Given the description of an element on the screen output the (x, y) to click on. 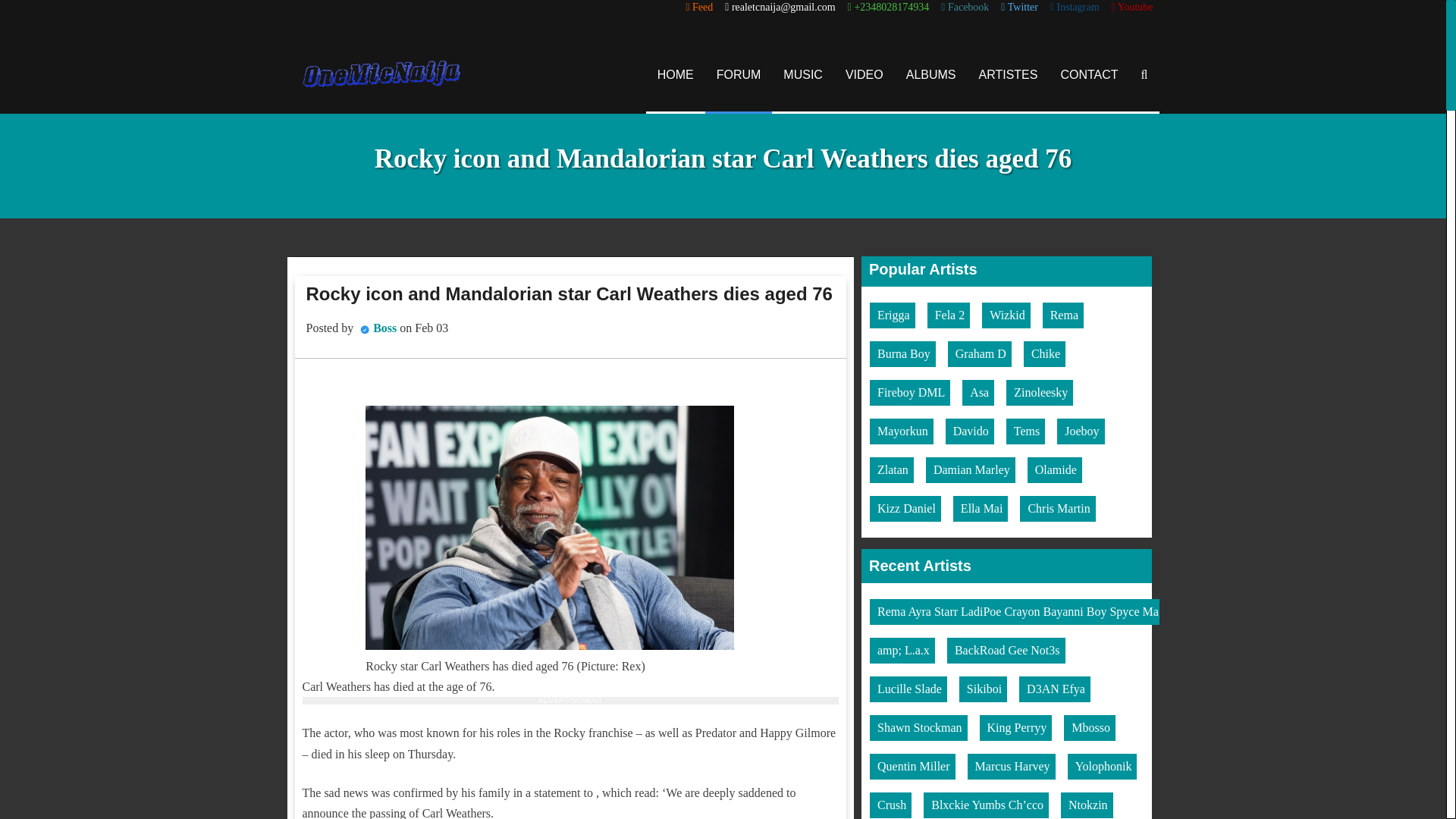
FORUM (738, 74)
CONTACT (1088, 74)
ARTISTES (1008, 74)
Boss (384, 327)
Instagram (1074, 7)
Twitter (1019, 7)
Youtube (1132, 7)
Feed (699, 7)
Facebook (964, 7)
ALBUMS (931, 74)
